Given the description of an element on the screen output the (x, y) to click on. 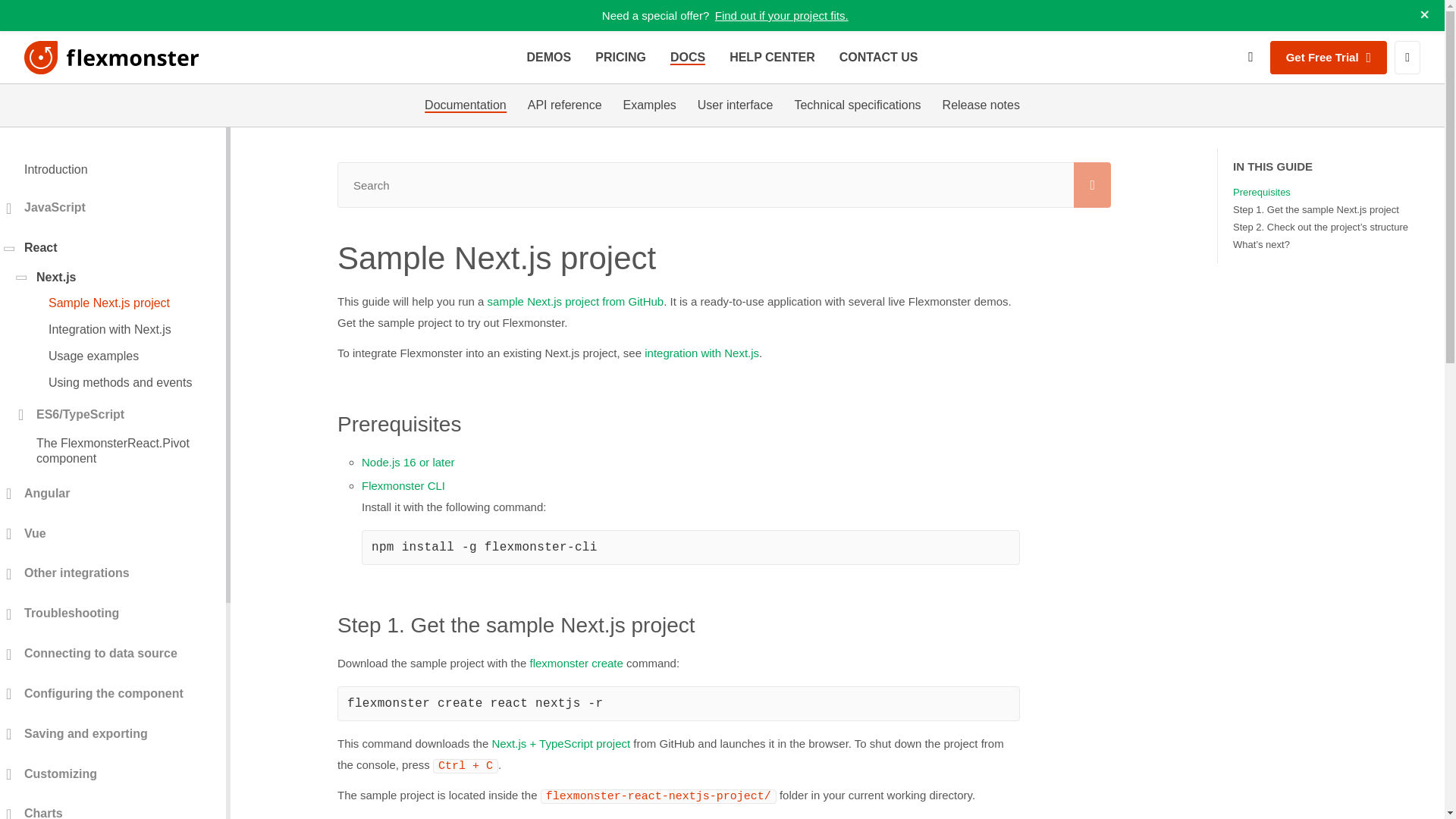
Flexmonster (112, 57)
DOCS (686, 56)
Introduction (112, 169)
Documentation (465, 104)
Release notes (981, 104)
API reference (564, 104)
Technical specifications (856, 104)
PRICING (620, 56)
Find out if your project fits. (781, 15)
CONTACT US (879, 56)
User interface (735, 104)
Get Free Trial (1328, 57)
Get Free Trial (1328, 57)
HELP CENTER (772, 56)
Examples (650, 104)
